Given the description of an element on the screen output the (x, y) to click on. 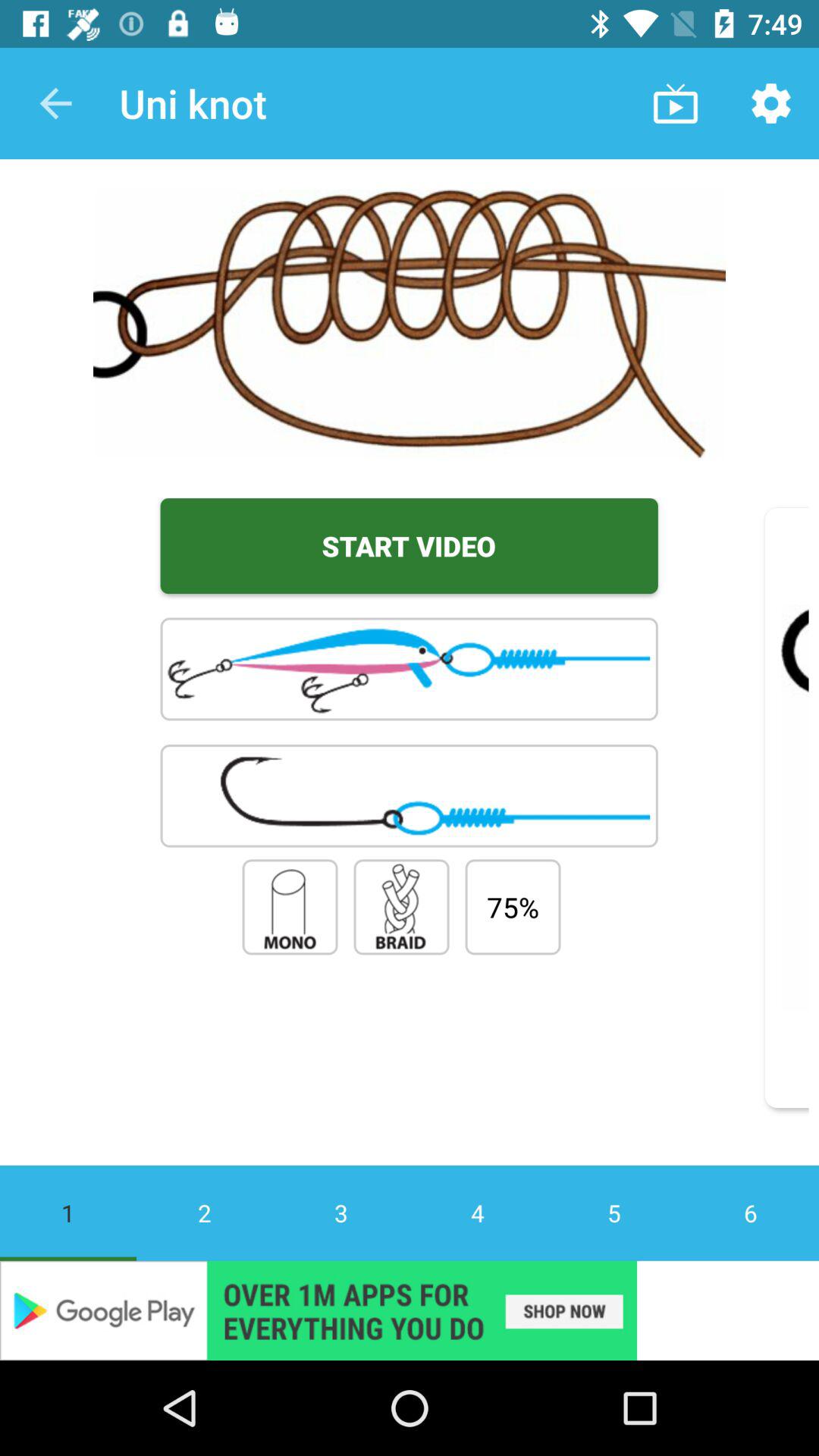
advertisement bar (409, 1310)
